Given the description of an element on the screen output the (x, y) to click on. 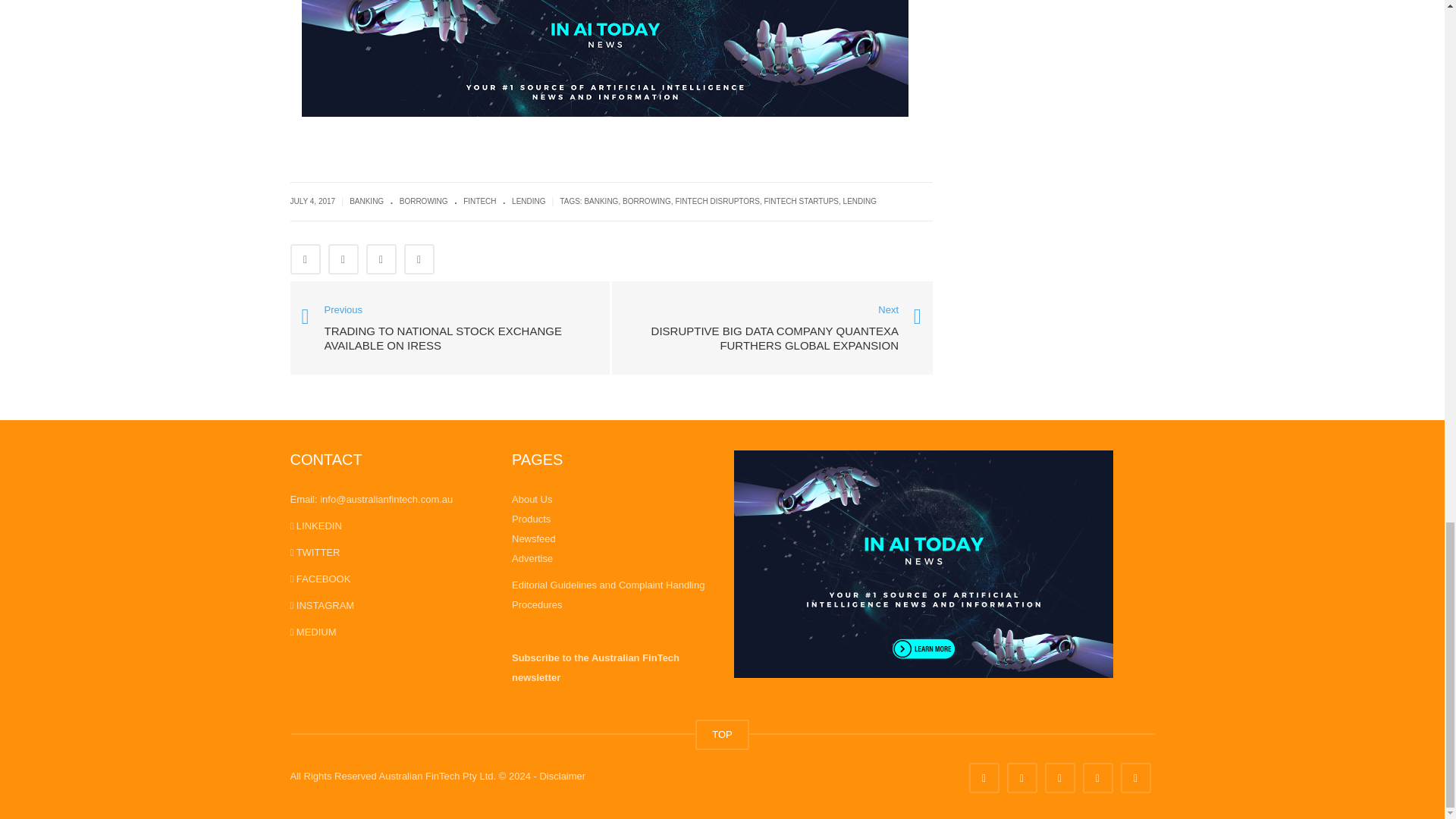
FINTECH (479, 201)
Email this (418, 259)
Share on Twitter (342, 259)
BORROWING (423, 201)
Share on LinkedIn (380, 259)
BANKING (366, 201)
Advertisement (1054, 40)
Trading to National Stock Exchange available on IRESS (449, 326)
Share on Facebook (304, 259)
